Given the description of an element on the screen output the (x, y) to click on. 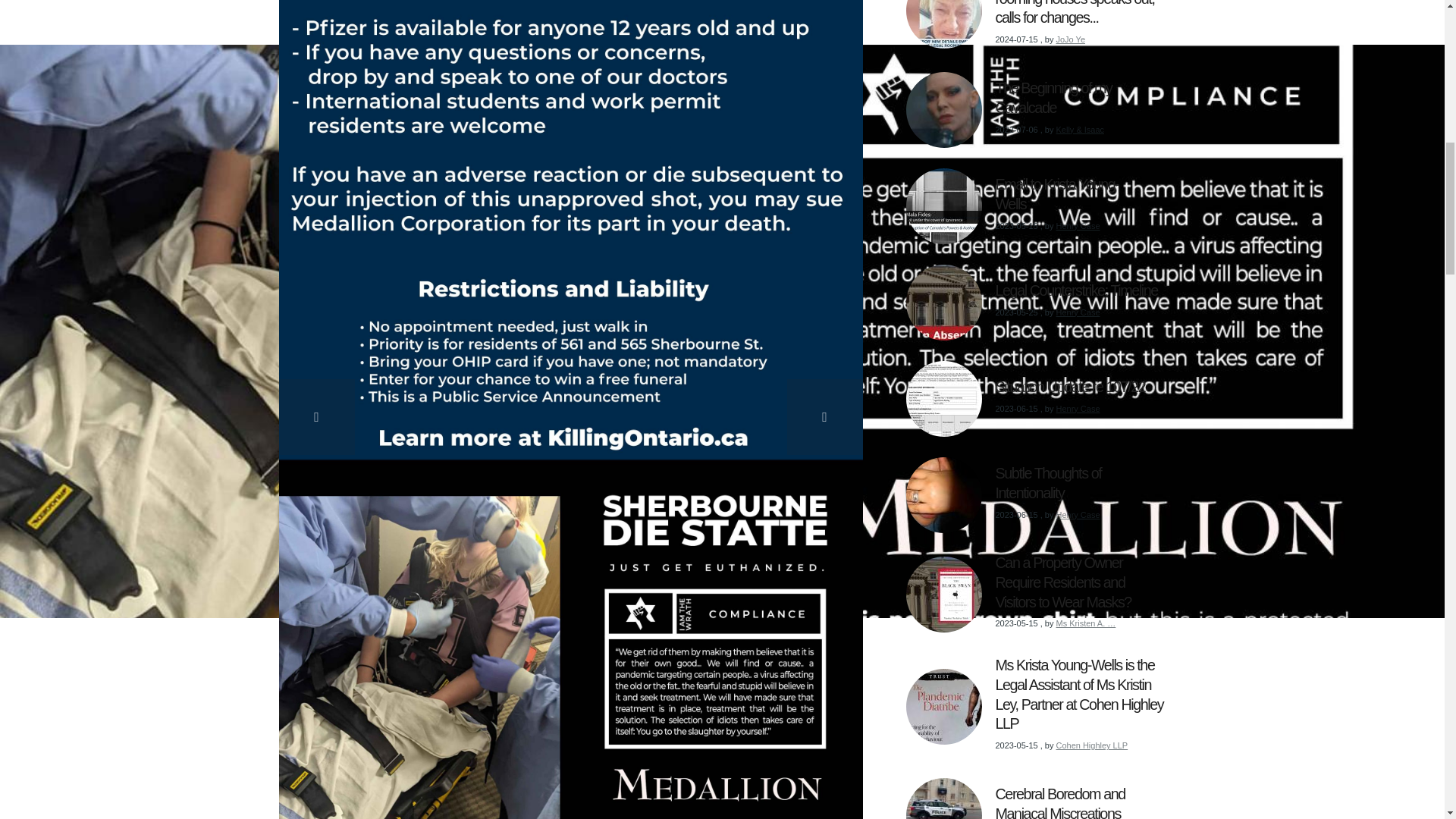
Voting in Auschwitz (139, 107)
